Given the description of an element on the screen output the (x, y) to click on. 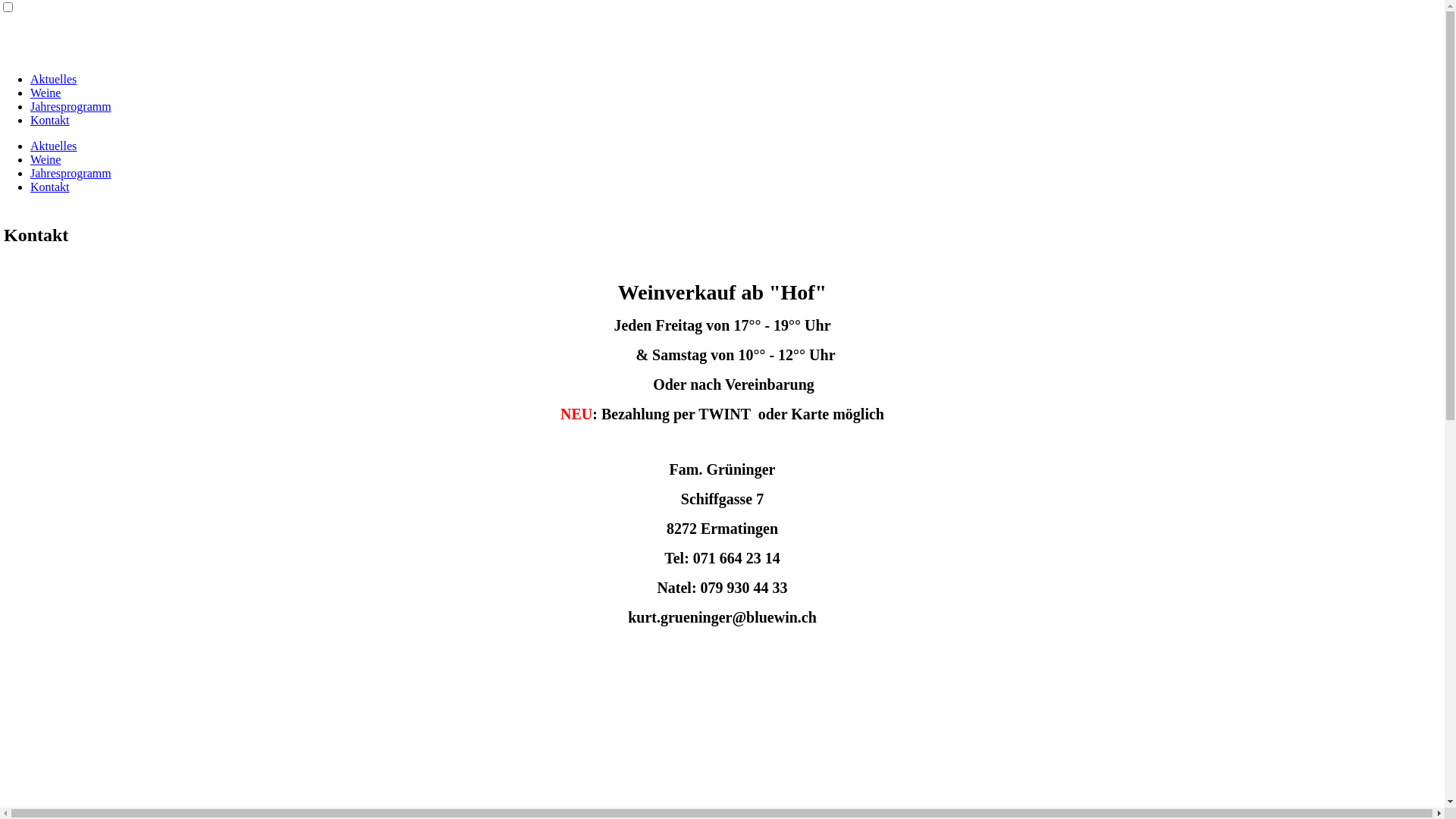
Kontakt Element type: text (49, 119)
Jahresprogramm Element type: text (70, 106)
Weine Element type: text (45, 92)
Aktuelles Element type: text (53, 145)
Kontakt Element type: text (49, 186)
Aktuelles Element type: text (53, 78)
Weine Element type: text (45, 159)
Jahresprogramm Element type: text (70, 172)
